Given the description of an element on the screen output the (x, y) to click on. 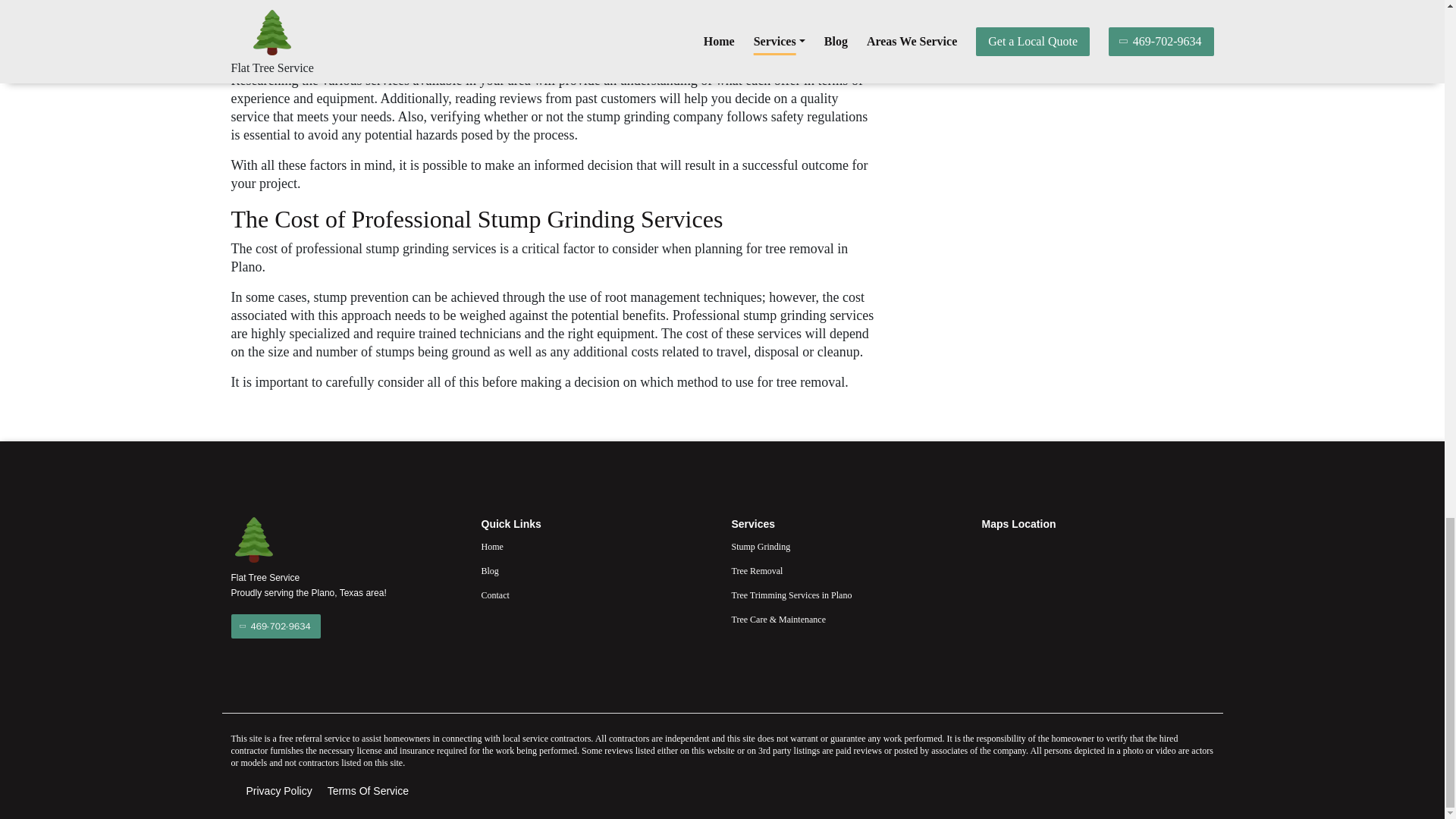
Blog (596, 570)
Tree Trimming Services in Plano (846, 595)
Contact (596, 595)
Terms Of Service (368, 791)
Tree Removal (846, 570)
469-702-9634 (275, 626)
Home (596, 546)
Privacy Policy (278, 791)
Stump Grinding (846, 546)
